Given the description of an element on the screen output the (x, y) to click on. 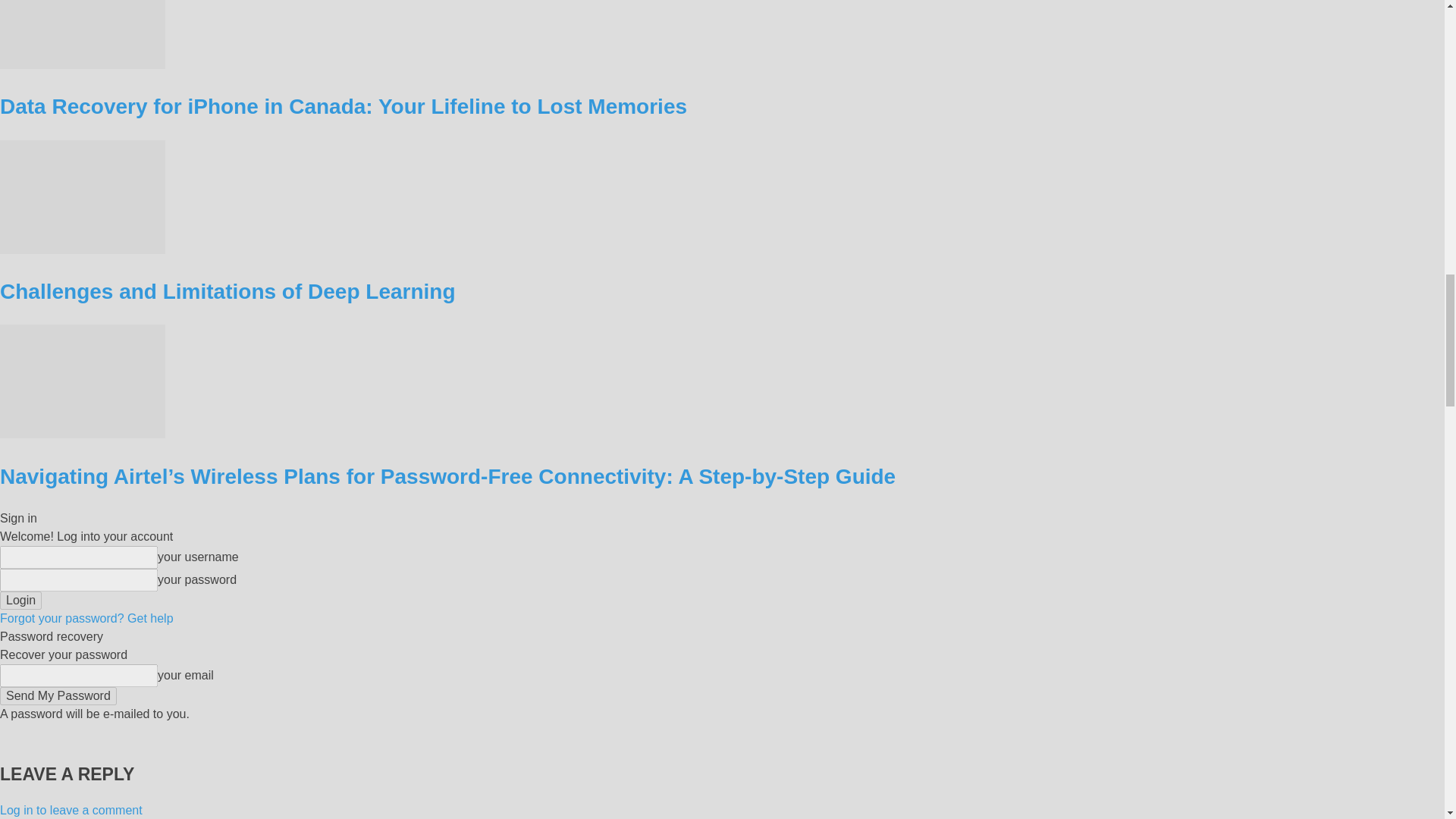
Send My Password (58, 696)
Challenges and Limitations of Deep Learning (82, 196)
Challenges and Limitations of Deep Learning (227, 291)
Login (21, 600)
Challenges and Limitations of Deep Learning (82, 249)
